Given the description of an element on the screen output the (x, y) to click on. 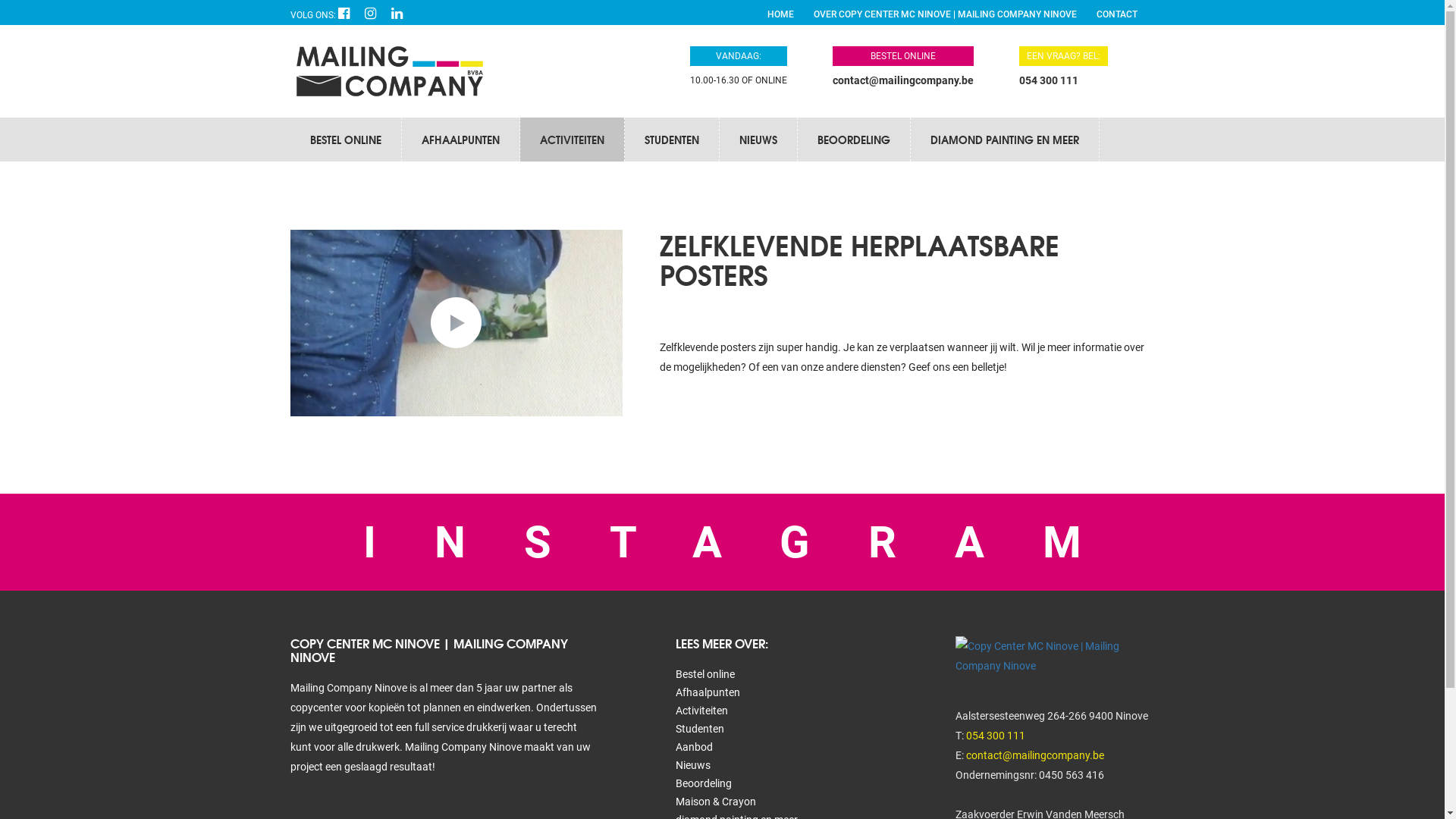
Aanbod Element type: text (693, 746)
DIAMOND PAINTING EN MEER Element type: text (1004, 139)
Maison & Crayon Element type: text (715, 801)
Studenten Element type: text (699, 728)
CONTACT Element type: text (1116, 14)
Beoordeling Element type: text (703, 783)
INSTAGRAM Element type: text (722, 541)
054 300 111 Element type: text (995, 735)
Activiteiten Element type: text (701, 710)
Nieuws Element type: text (692, 765)
BESTEL ONLINE Element type: text (344, 139)
054 300 111 Element type: text (1048, 80)
contact@mailingcompany.be Element type: text (902, 80)
AFHAALPUNTEN Element type: text (460, 139)
ACTIVITEITEN Element type: text (572, 139)
BEOORDELING Element type: text (853, 139)
Afhaalpunten Element type: text (707, 692)
HOME Element type: text (780, 14)
BESTEL ONLINE Element type: text (902, 66)
contact@mailingcompany.be Element type: text (1035, 755)
OVER COPY CENTER MC NINOVE | MAILING COMPANY NINOVE Element type: text (944, 14)
STUDENTEN Element type: text (671, 139)
NIEUWS Element type: text (757, 139)
Bestel online Element type: text (704, 674)
